Given the description of an element on the screen output the (x, y) to click on. 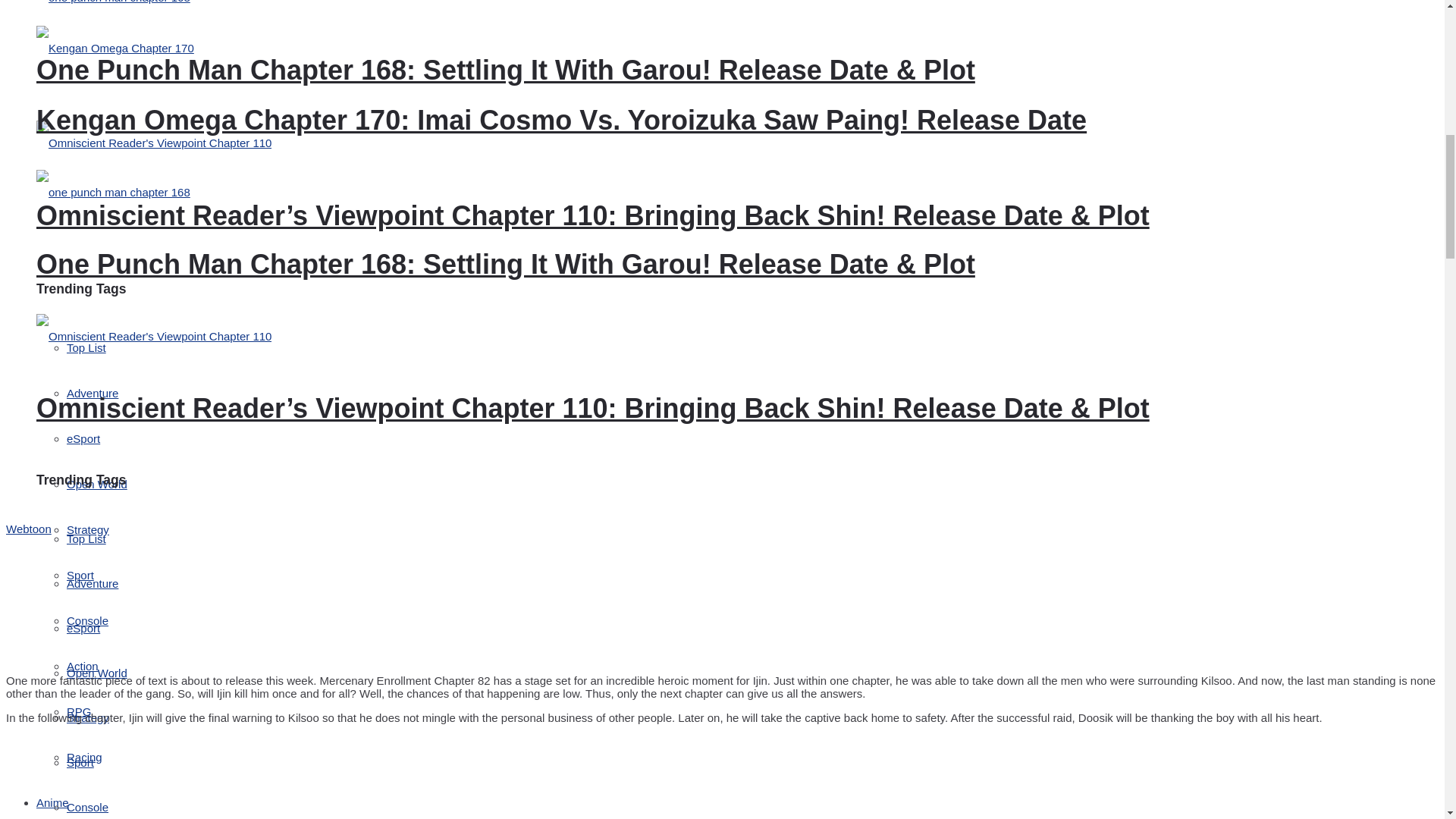
Racing (83, 757)
Strategy (87, 529)
Anime (52, 802)
RPG (78, 711)
Sport (80, 574)
Open World (97, 483)
Top List (86, 347)
Console (86, 620)
eSport (83, 438)
Adventure (91, 392)
Action (82, 666)
